Given the description of an element on the screen output the (x, y) to click on. 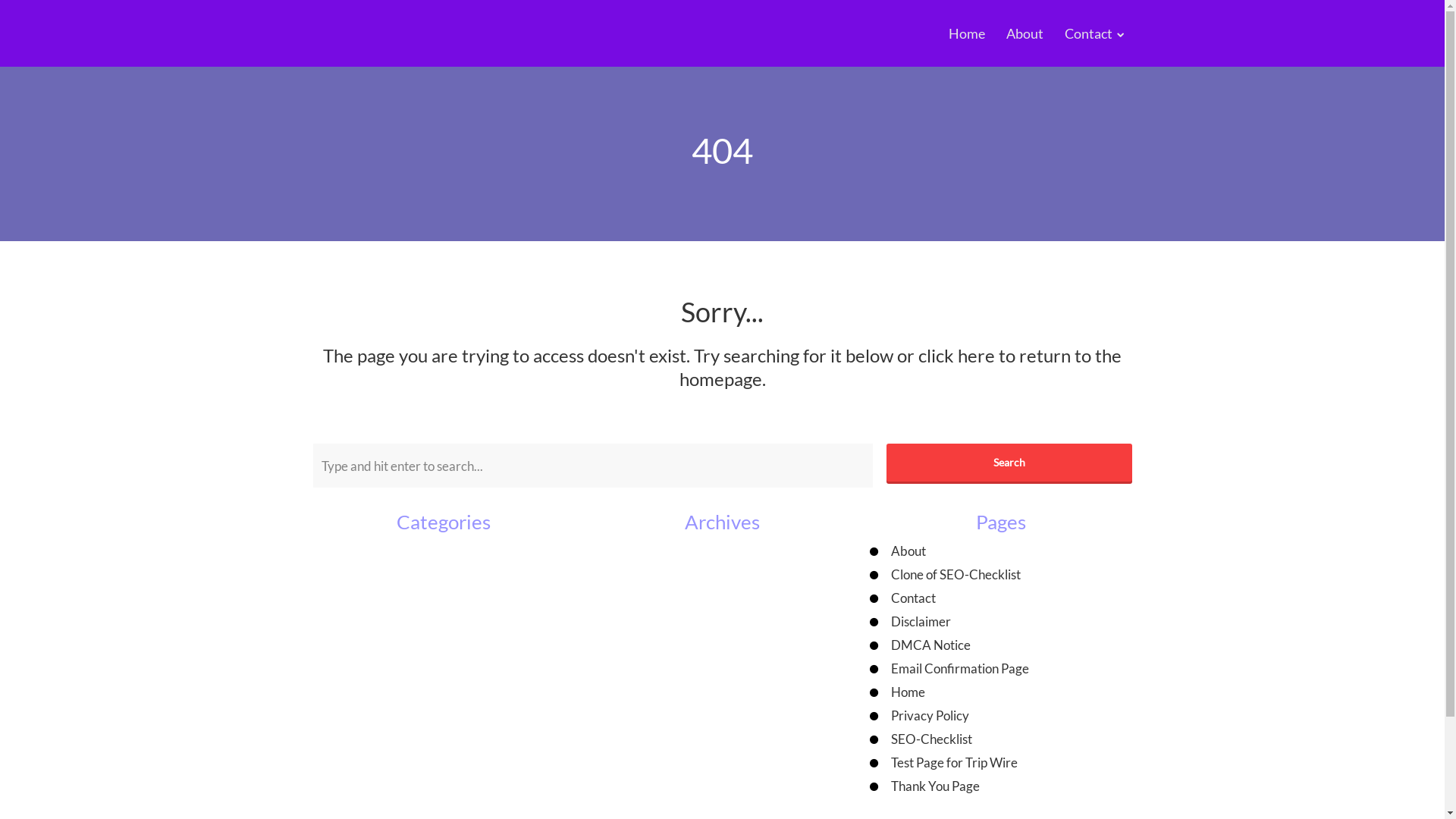
About Element type: text (1024, 33)
Test Page for Trip Wire Element type: text (954, 762)
DMCA Notice Element type: text (930, 644)
Contact Element type: text (1088, 33)
Search Element type: text (1009, 462)
Clone of SEO-Checklist Element type: text (955, 574)
Thank You Page Element type: text (935, 785)
SEO-Checklist Element type: text (931, 738)
Contact Element type: text (913, 597)
Disclaimer Element type: text (920, 621)
Home Element type: text (908, 691)
About Element type: text (908, 550)
click here Element type: text (956, 355)
Privacy Policy Element type: text (930, 715)
Home Element type: text (966, 33)
Email Confirmation Page Element type: text (960, 668)
